Given the description of an element on the screen output the (x, y) to click on. 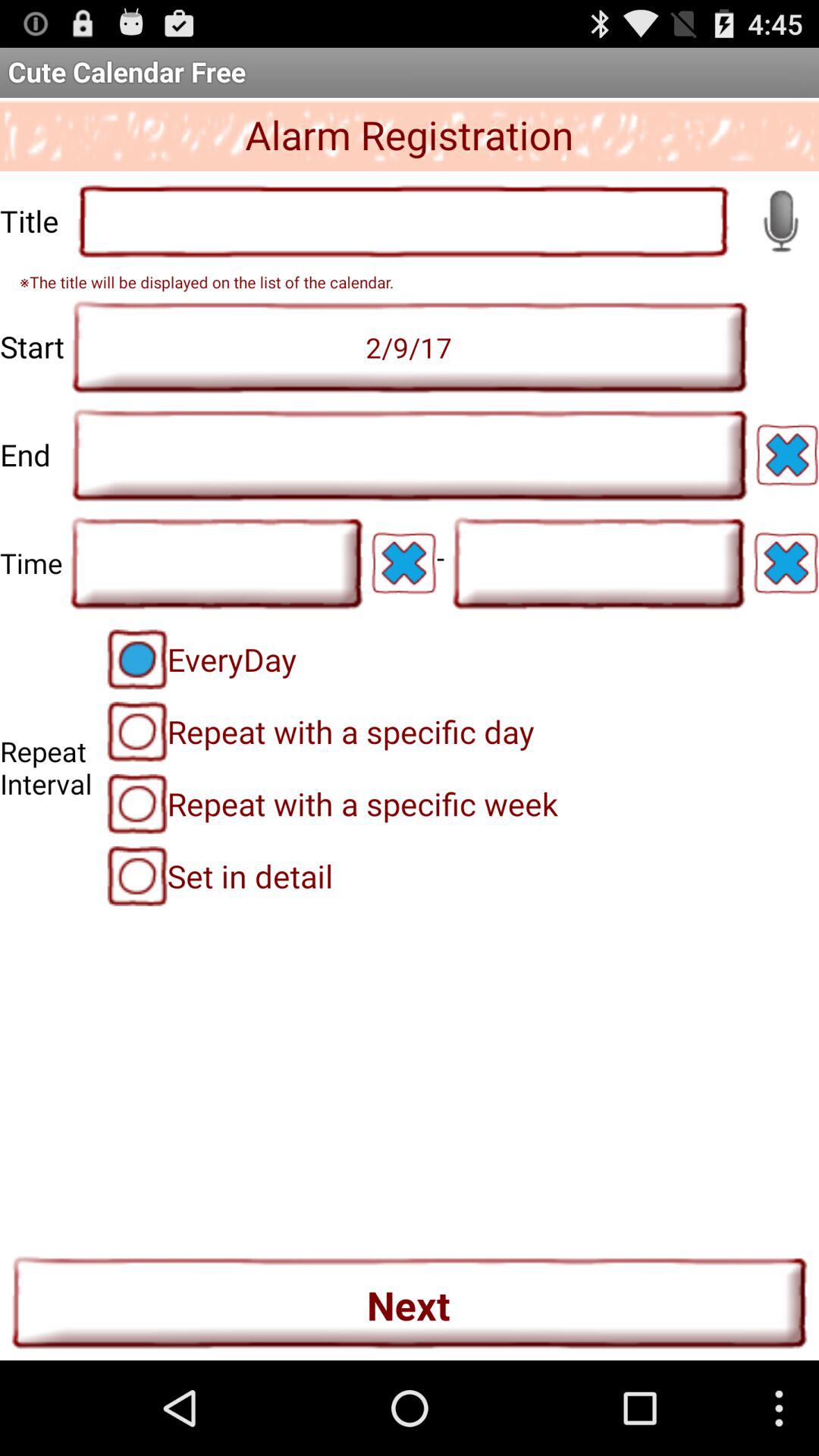
remove time entry (403, 562)
